Given the description of an element on the screen output the (x, y) to click on. 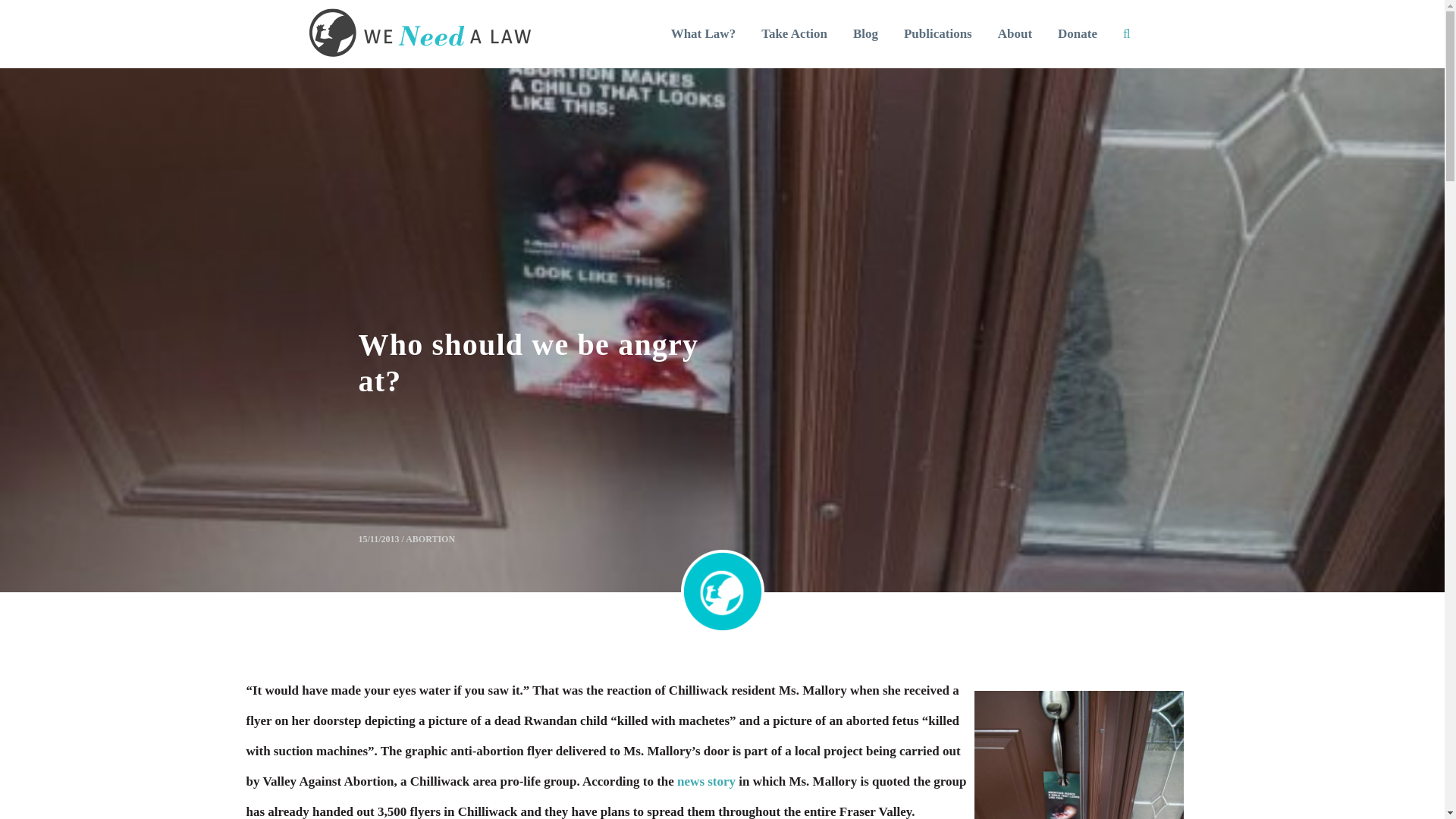
Take Action (794, 34)
Blog (865, 34)
About (1014, 34)
Donate (1076, 34)
What Law? (703, 34)
news story (706, 766)
Publications (937, 34)
